Given the description of an element on the screen output the (x, y) to click on. 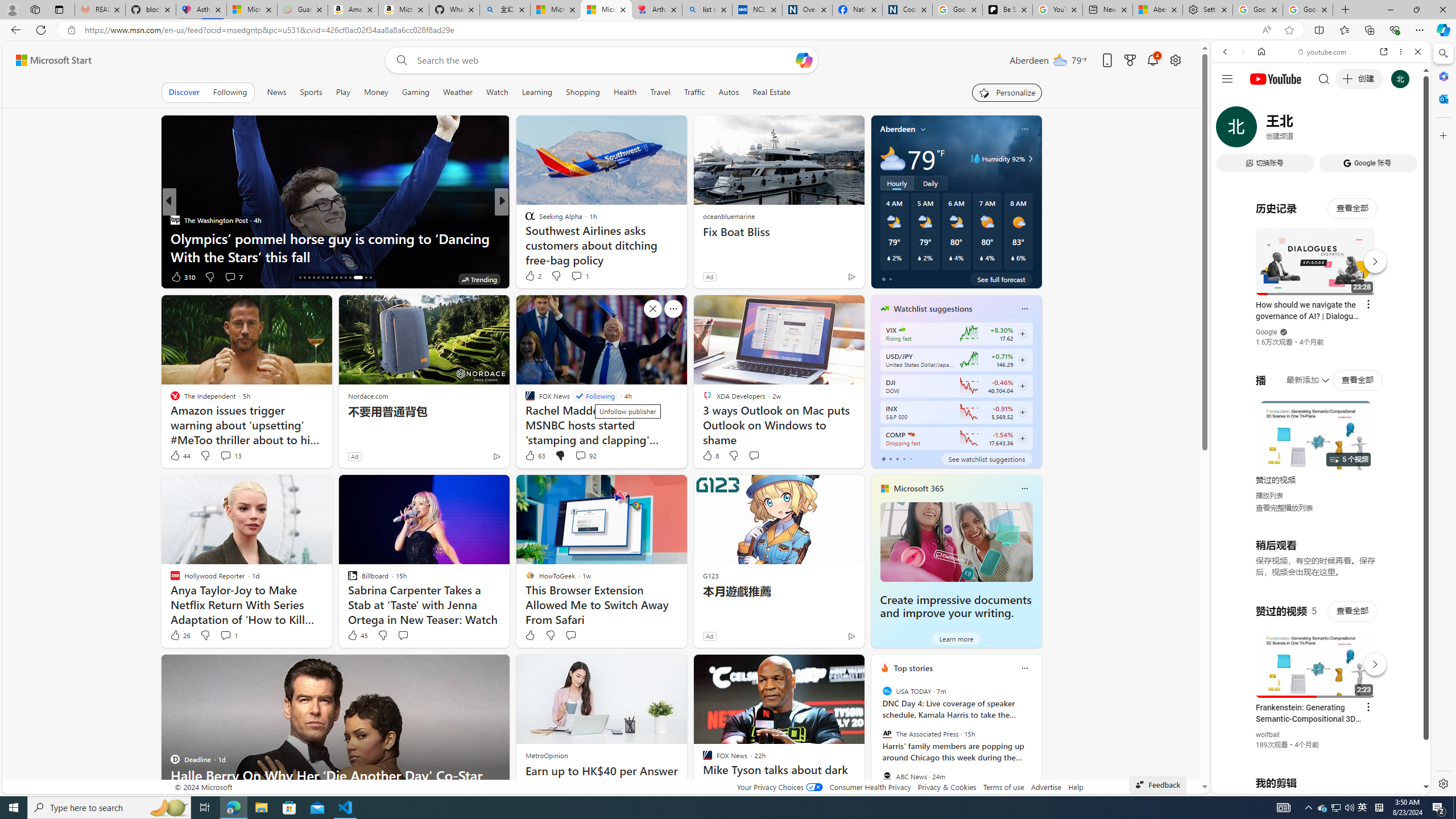
list of asthma inhalers uk - Search (706, 9)
Your Privacy Choices (779, 786)
Create impressive documents and improve your writing. (955, 606)
Notifications (1152, 60)
2 Like (532, 275)
